Given the description of an element on the screen output the (x, y) to click on. 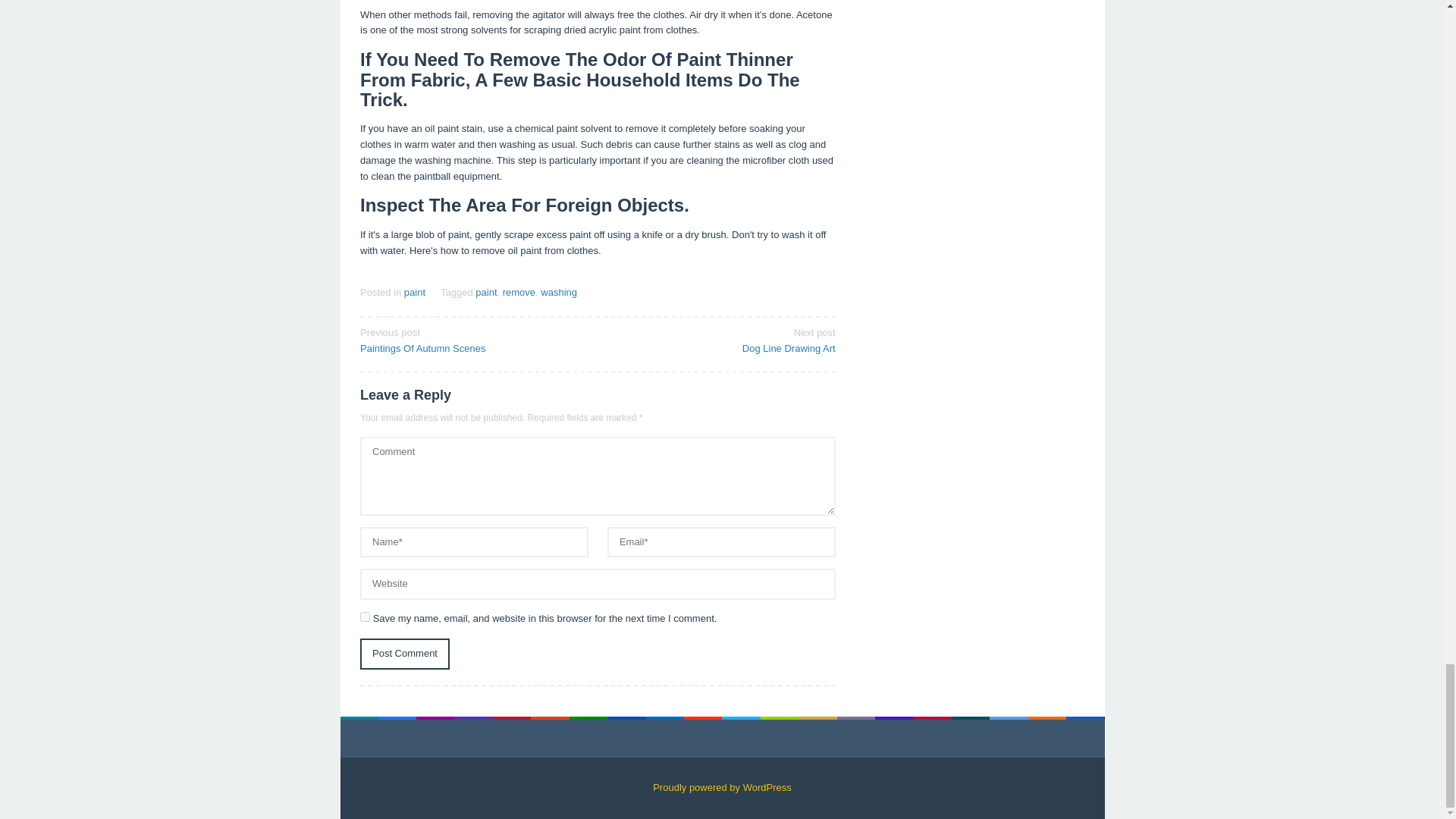
remove (518, 292)
Post Comment (404, 653)
washing (473, 339)
paint (558, 292)
paint (414, 292)
yes (721, 339)
Post Comment (486, 292)
